Given the description of an element on the screen output the (x, y) to click on. 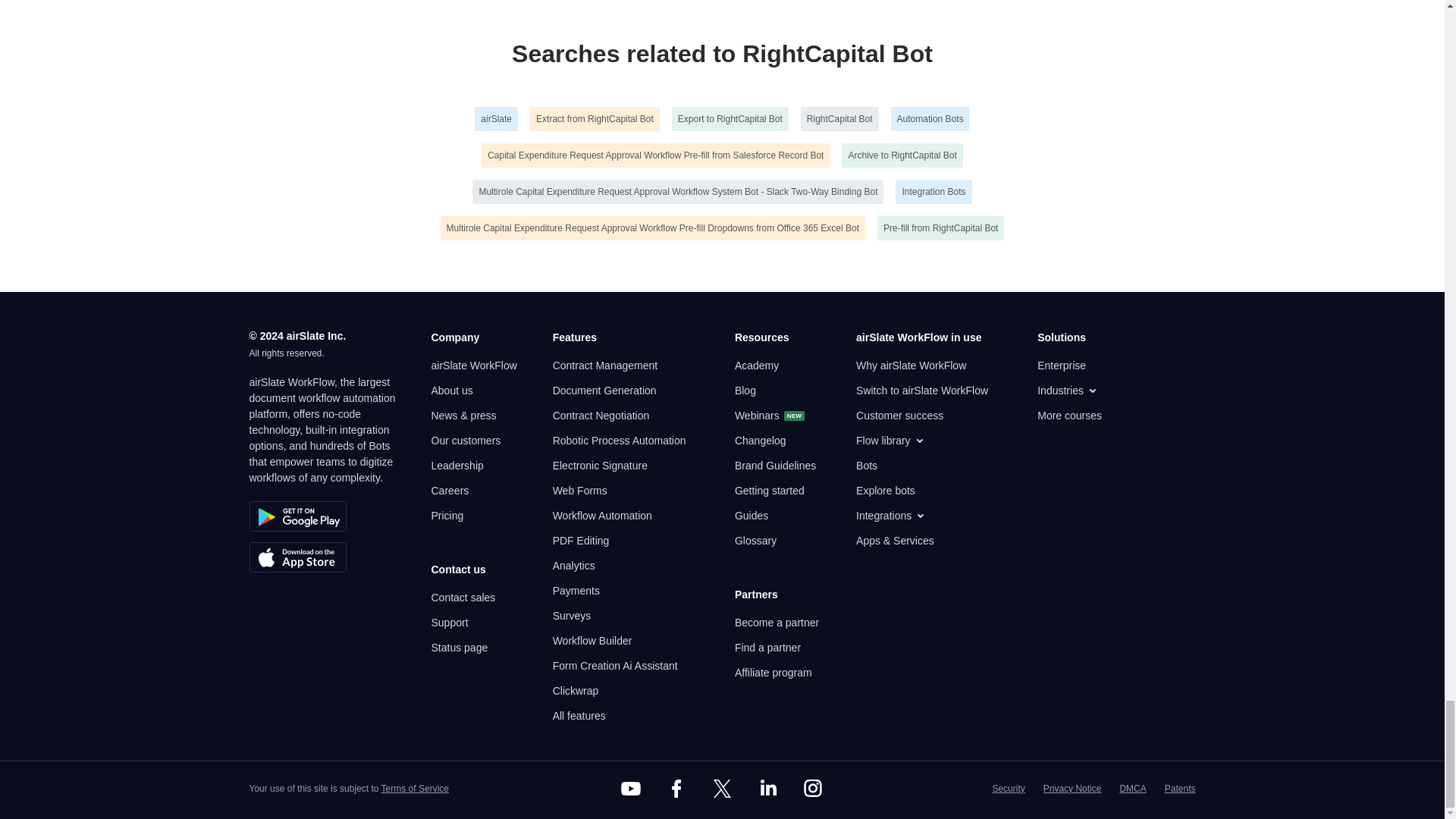
Twitter (721, 788)
YouTube (630, 788)
Facebook (676, 788)
Instagram (812, 788)
LinkedIn (767, 788)
